Given the description of an element on the screen output the (x, y) to click on. 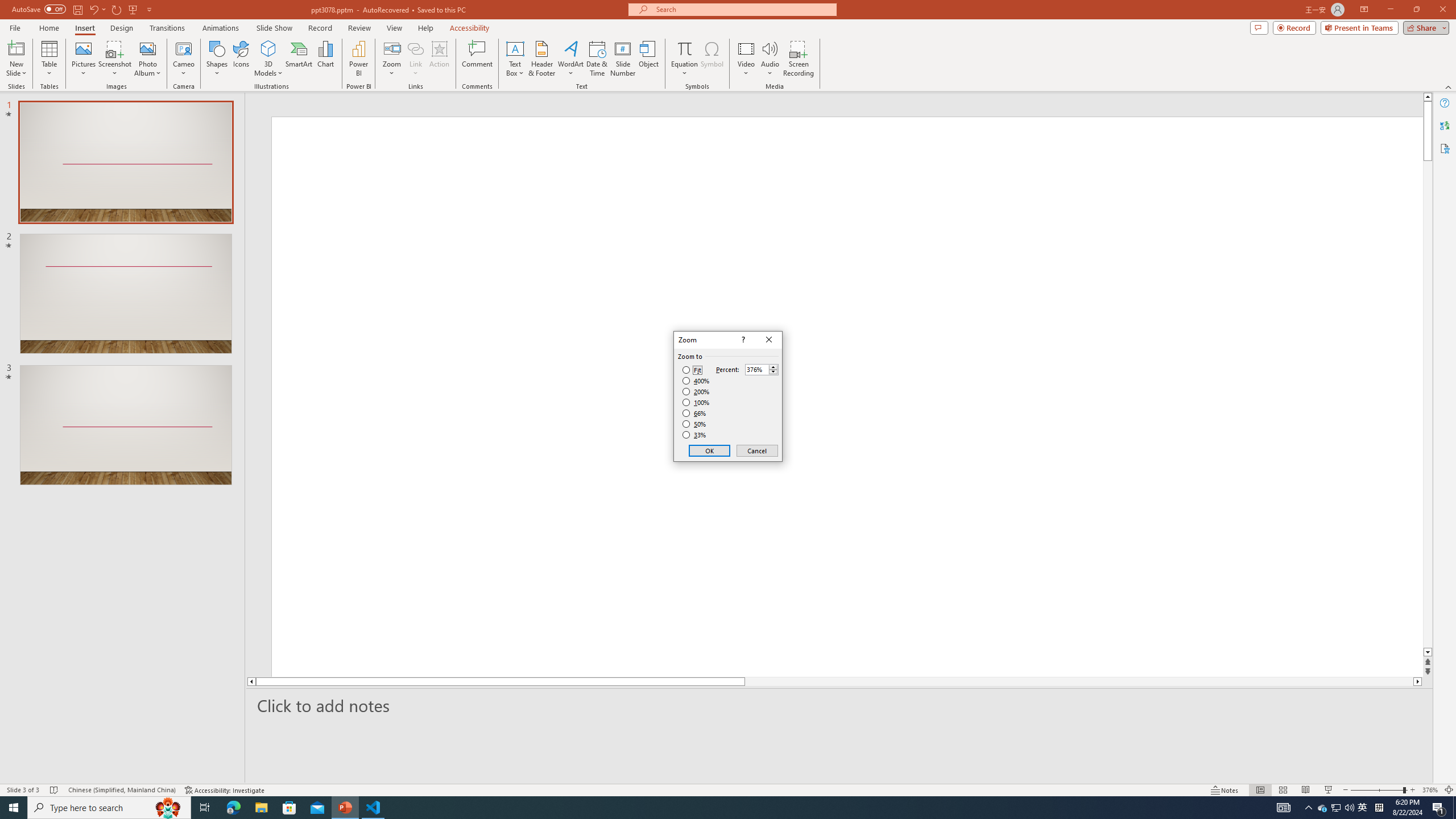
200% (696, 391)
Fit (691, 370)
WordArt (570, 58)
Link (415, 48)
